Given the description of an element on the screen output the (x, y) to click on. 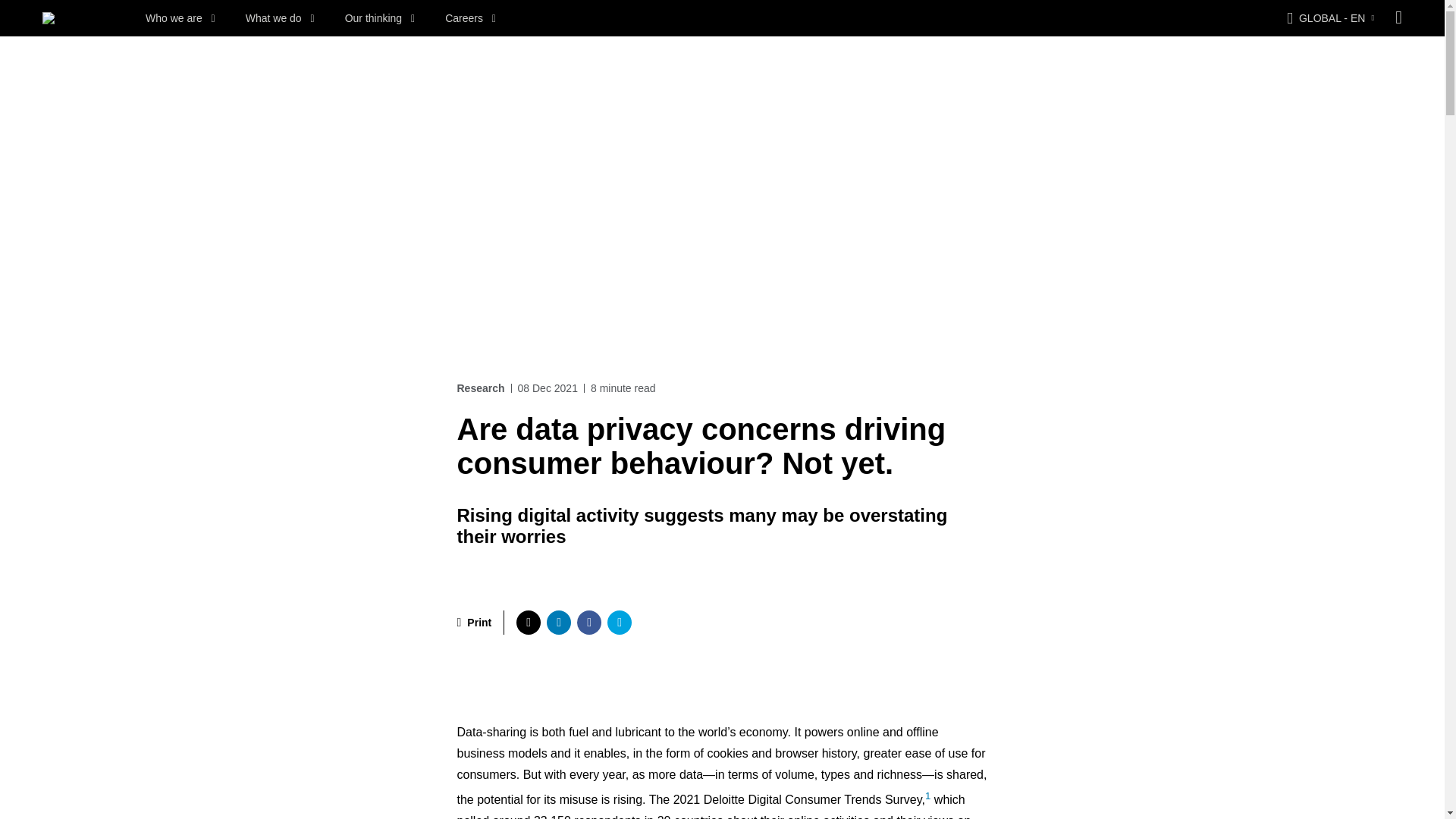
share via twitter (528, 622)
Print (474, 622)
share via facebook (588, 622)
Who we are (180, 18)
share via email (619, 622)
Careers (470, 18)
Our thinking (379, 18)
Deloitte (48, 18)
What we do (280, 18)
share via linkedin (558, 622)
